Given the description of an element on the screen output the (x, y) to click on. 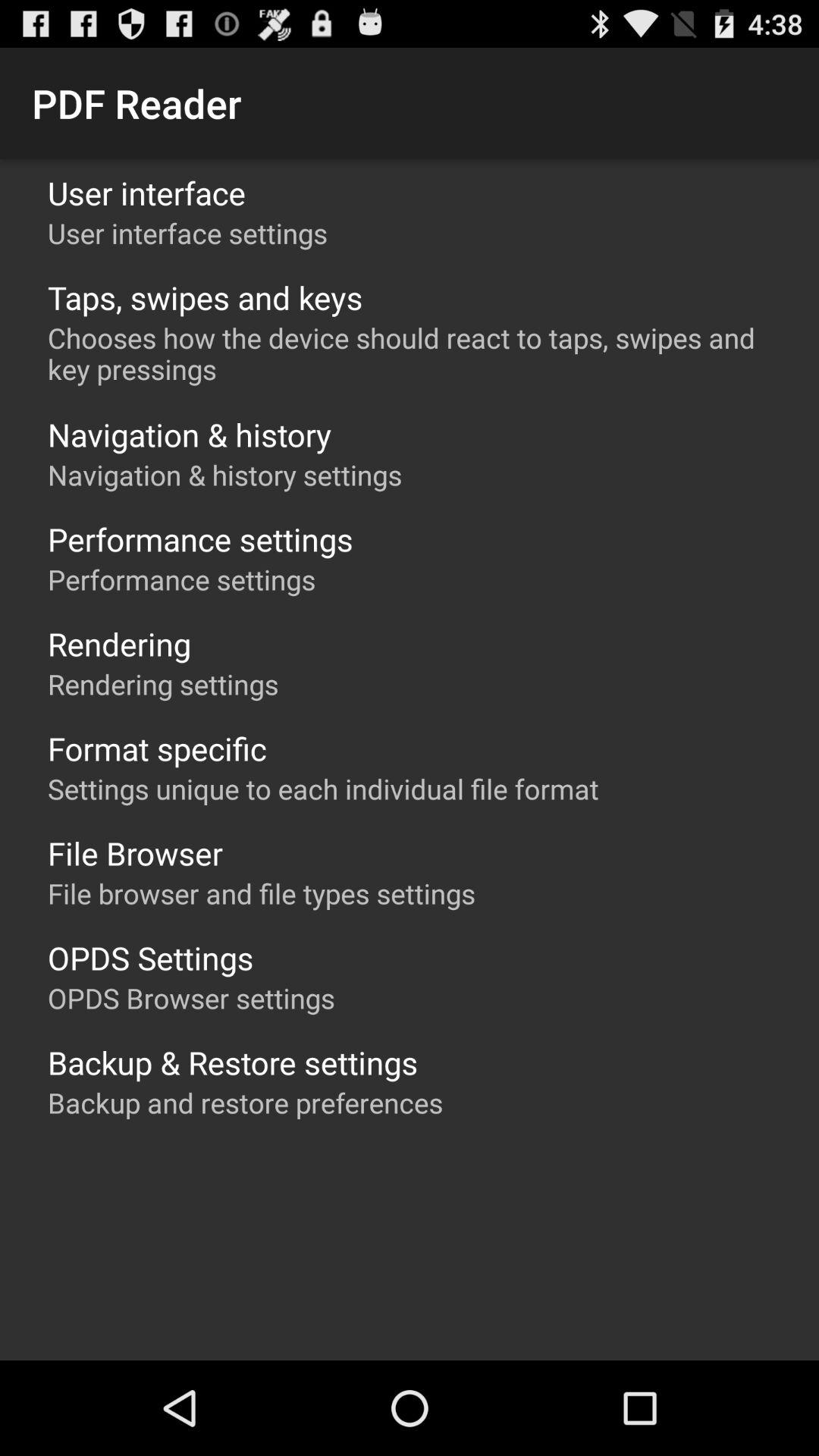
open the app at the center (322, 788)
